Given the description of an element on the screen output the (x, y) to click on. 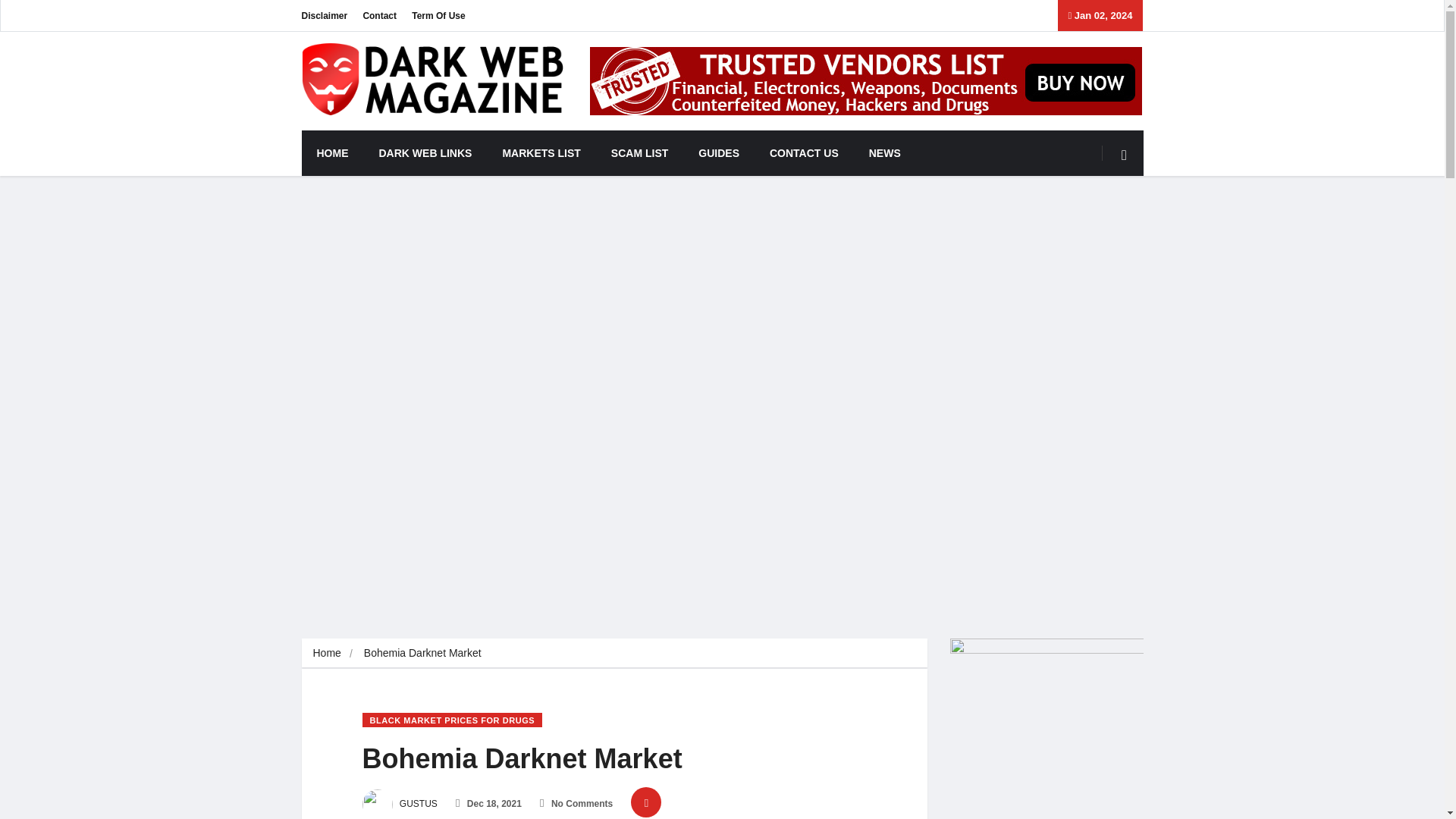
Disclaimer (324, 15)
HOME (332, 153)
CONTACT US (803, 153)
Term Of Use (438, 15)
NEWS (884, 153)
Contact (379, 15)
Home (326, 653)
SCAM LIST (638, 153)
BLACK MARKET PRICES FOR DRUGS (452, 719)
GUSTUS (400, 803)
